Given the description of an element on the screen output the (x, y) to click on. 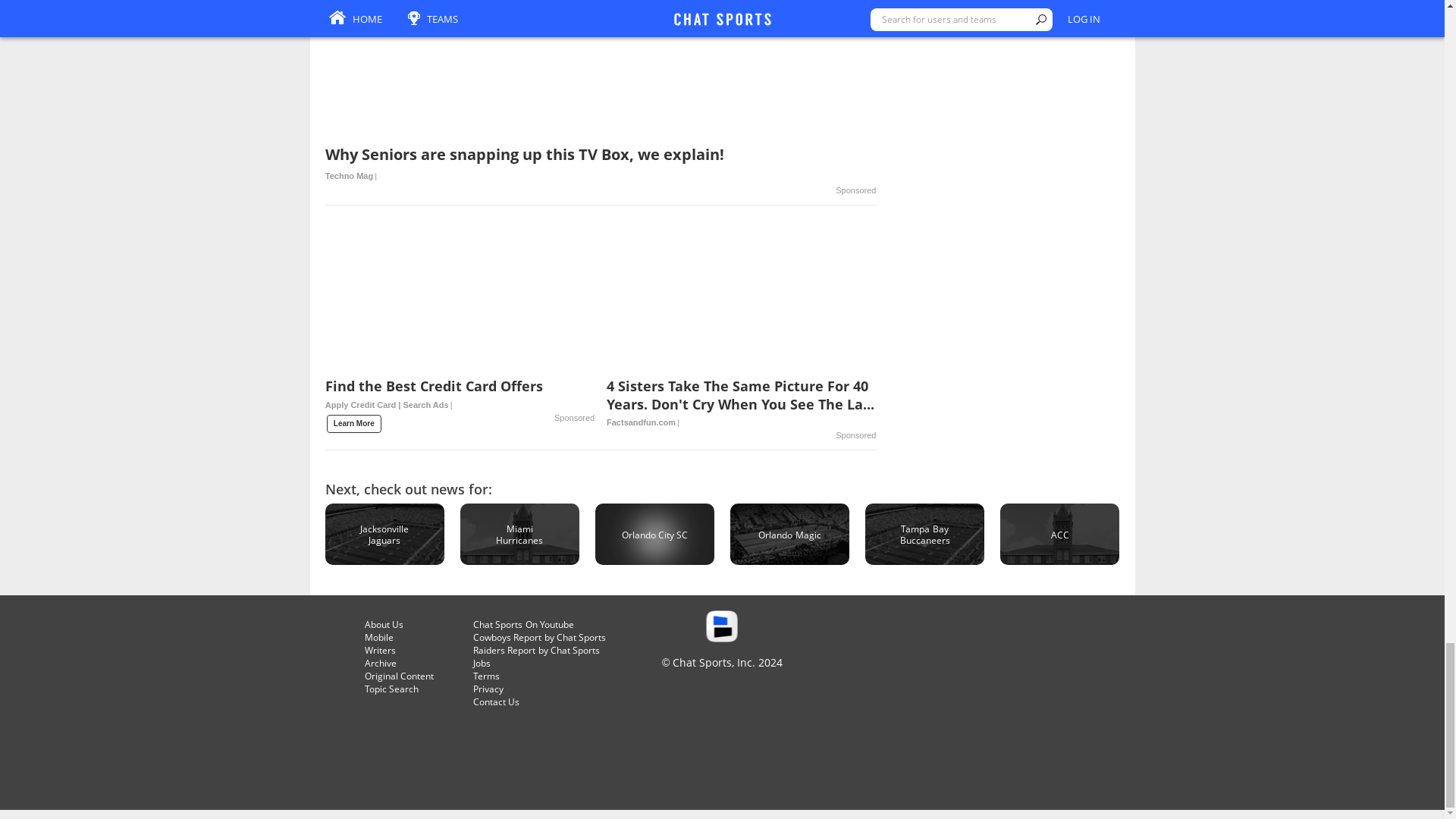
Sponsored (855, 190)
Find the Best Credit Card Offers (459, 399)
Sponsored (574, 418)
Sponsored (855, 435)
Learn More (353, 423)
Why Seniors are snapping up this TV Box, we explain! (600, 165)
